Given the description of an element on the screen output the (x, y) to click on. 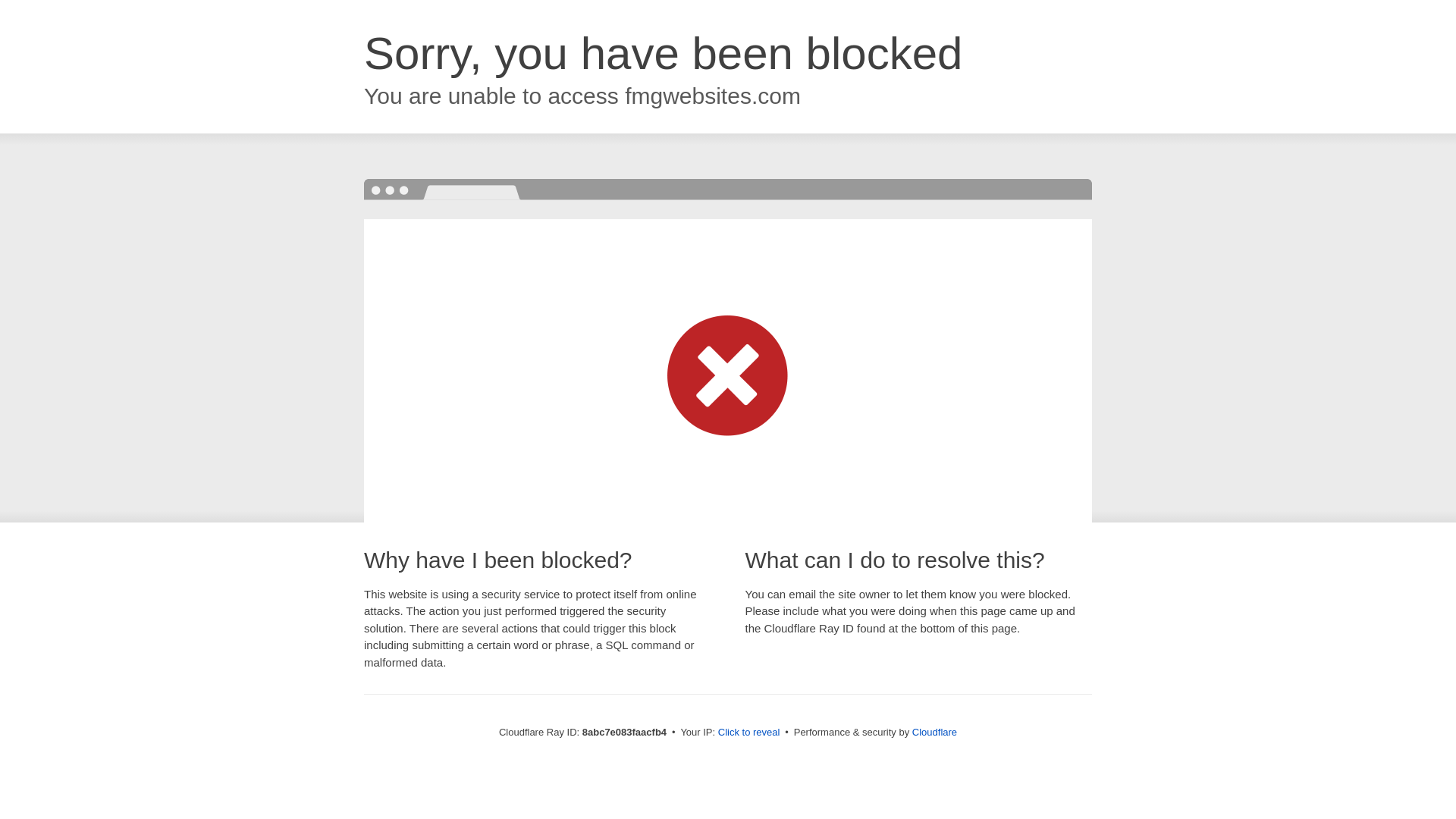
Click to reveal (748, 732)
Cloudflare (934, 731)
